Given the description of an element on the screen output the (x, y) to click on. 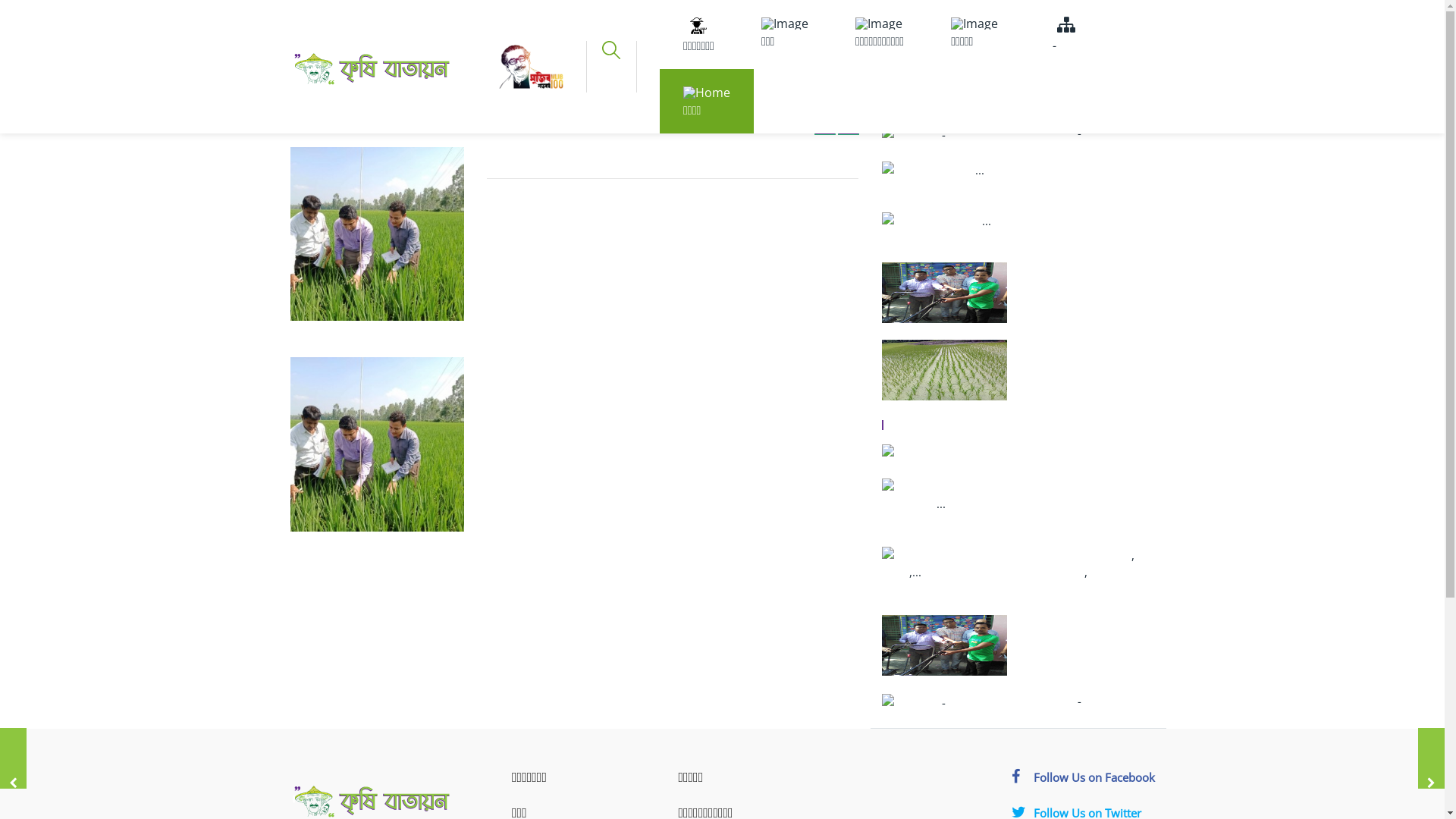
Follow Us on Facebook Element type: text (1082, 776)
